Given the description of an element on the screen output the (x, y) to click on. 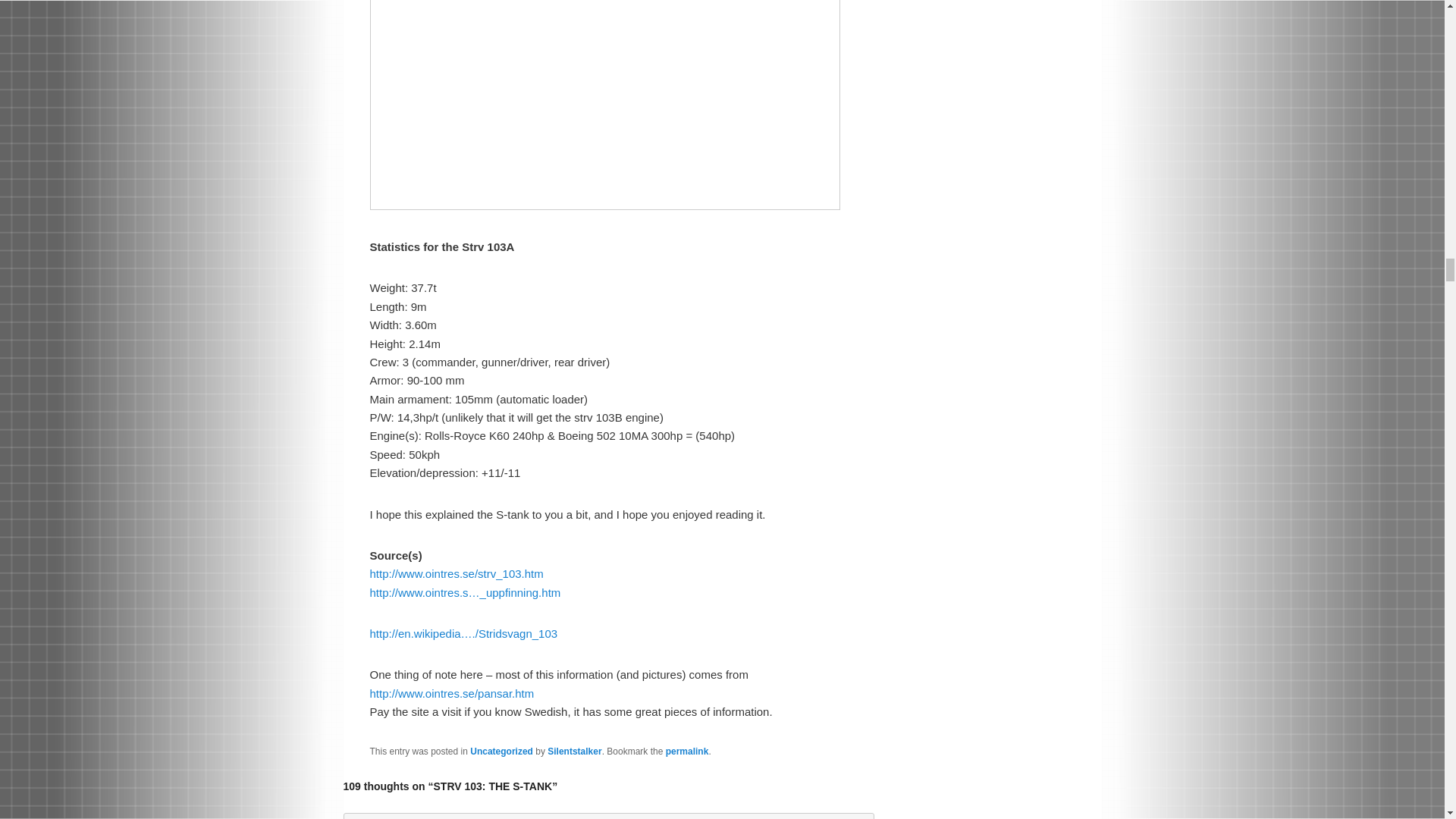
permalink (687, 751)
Uncategorized (501, 751)
Silentstalker (574, 751)
